Given the description of an element on the screen output the (x, y) to click on. 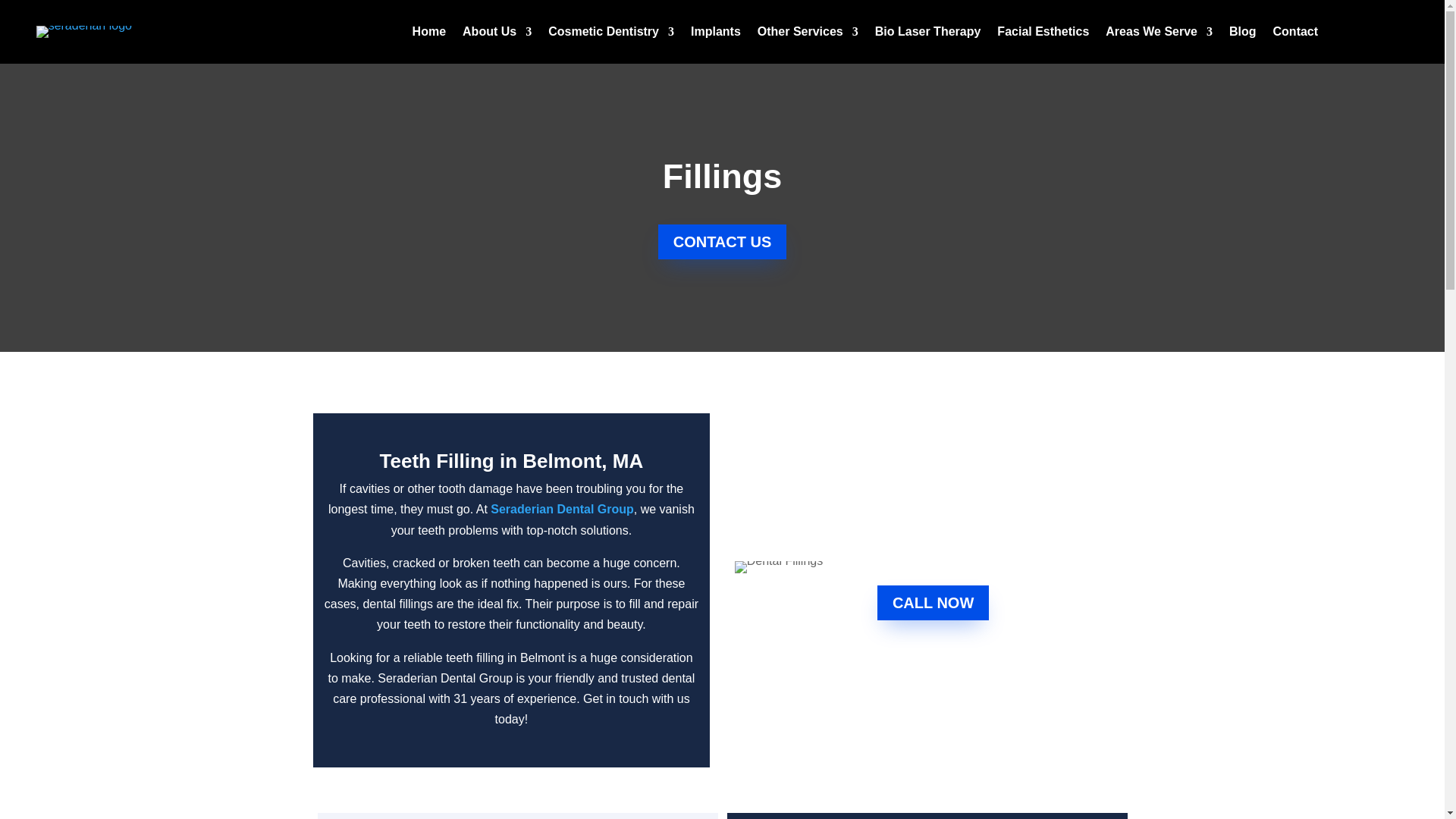
Dental Fillings (778, 567)
CONTACT US (722, 241)
About Us (497, 34)
Areas We Serve (1158, 34)
Bio Laser Therapy (928, 34)
Seraderian Dental Group (561, 508)
Cosmetic Dentistry (611, 34)
Home (428, 34)
seraderian logo (84, 31)
Other Services (808, 34)
Blog (1242, 34)
Facial Esthetics (1043, 34)
Contact (1295, 34)
Implants (715, 34)
